Given the description of an element on the screen output the (x, y) to click on. 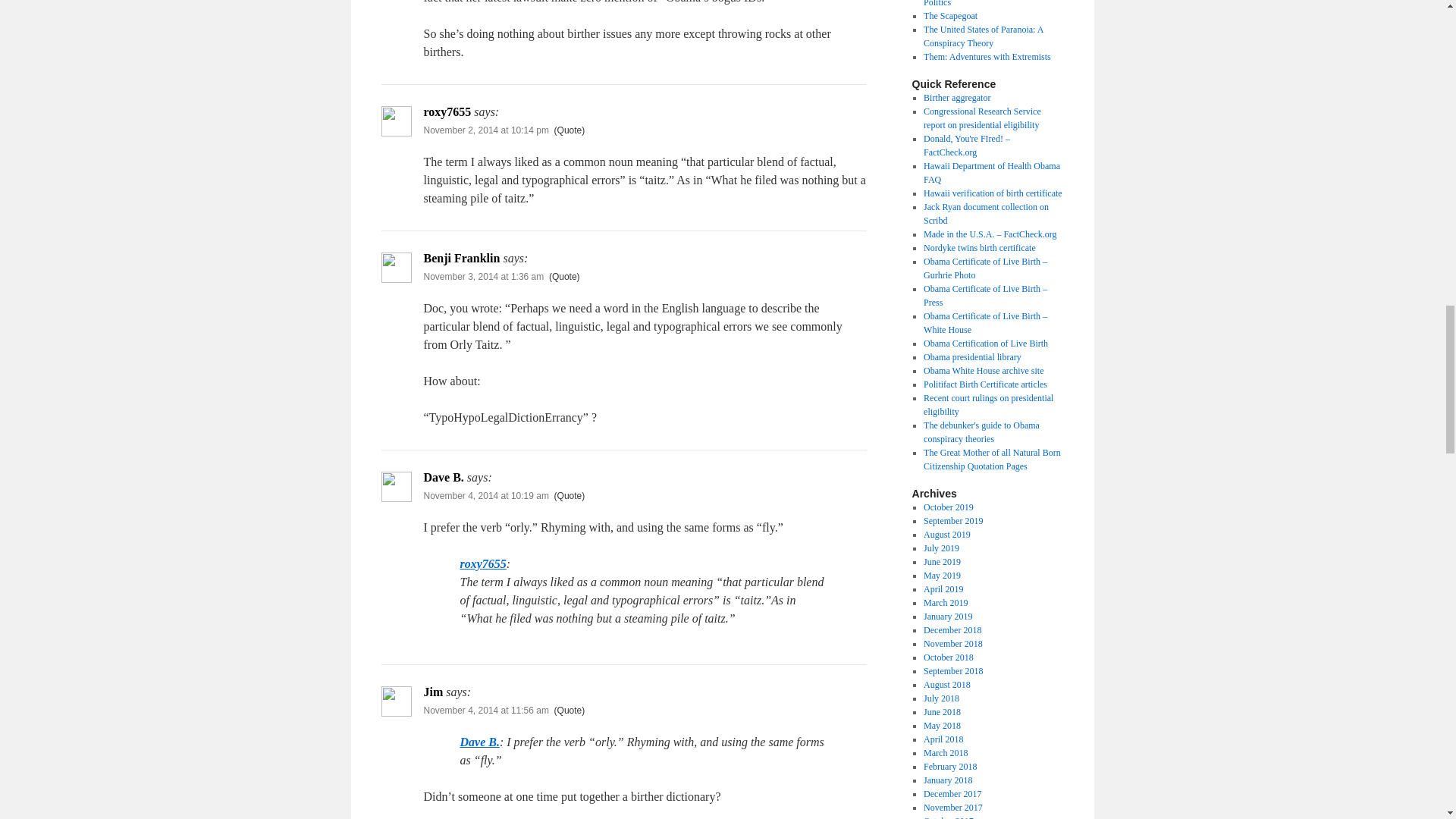
Click here or select text to quote comment (569, 495)
Click here or select text to quote comment (569, 130)
Click here or select text to quote comment (569, 710)
November 2, 2014 at 10:14 pm (485, 130)
November 3, 2014 at 1:36 am (483, 276)
Click here or select text to quote comment (563, 276)
